Given the description of an element on the screen output the (x, y) to click on. 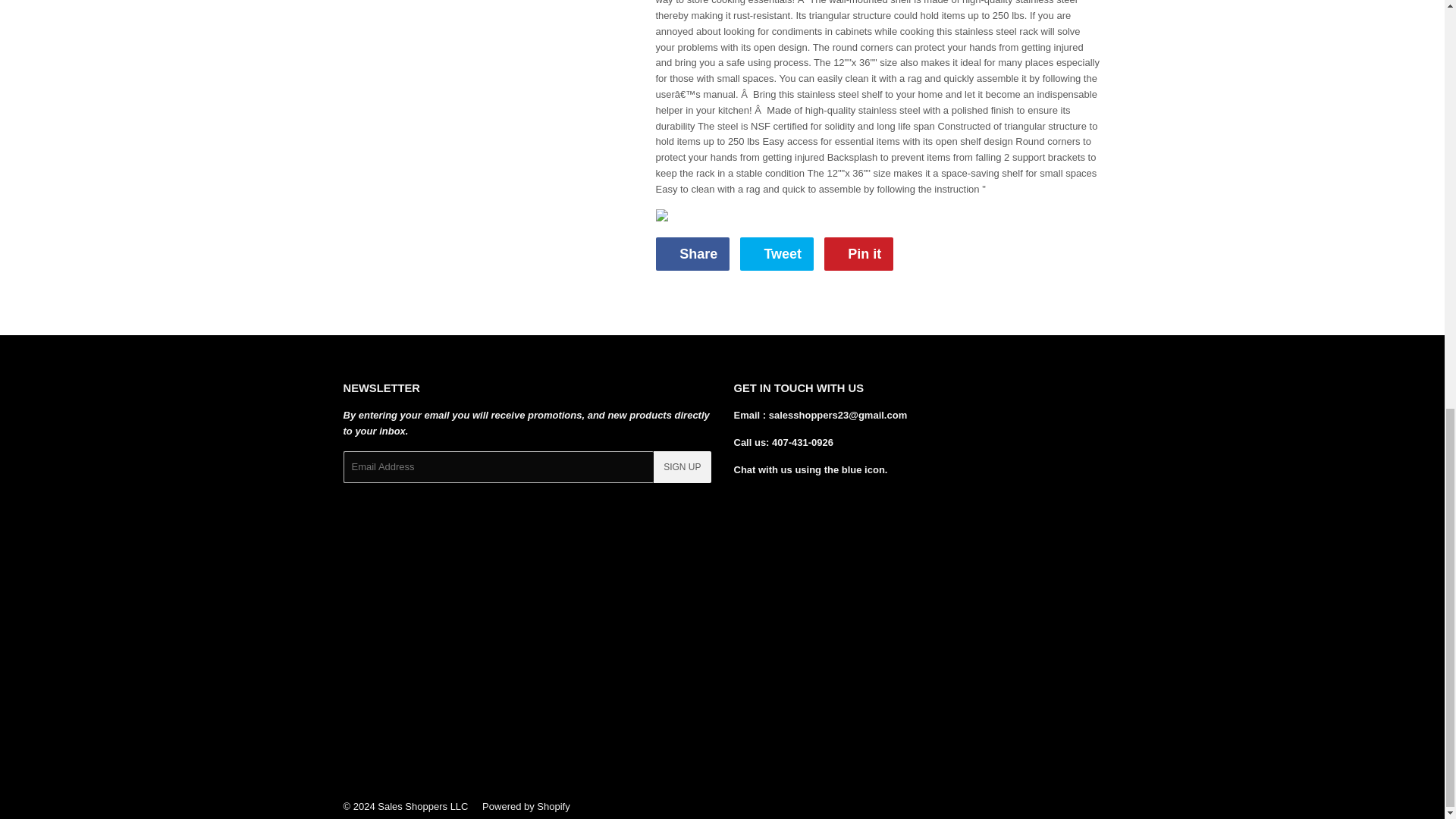
Share on Facebook (692, 254)
Pin on Pinterest (692, 254)
Tweet on Twitter (858, 254)
